Given the description of an element on the screen output the (x, y) to click on. 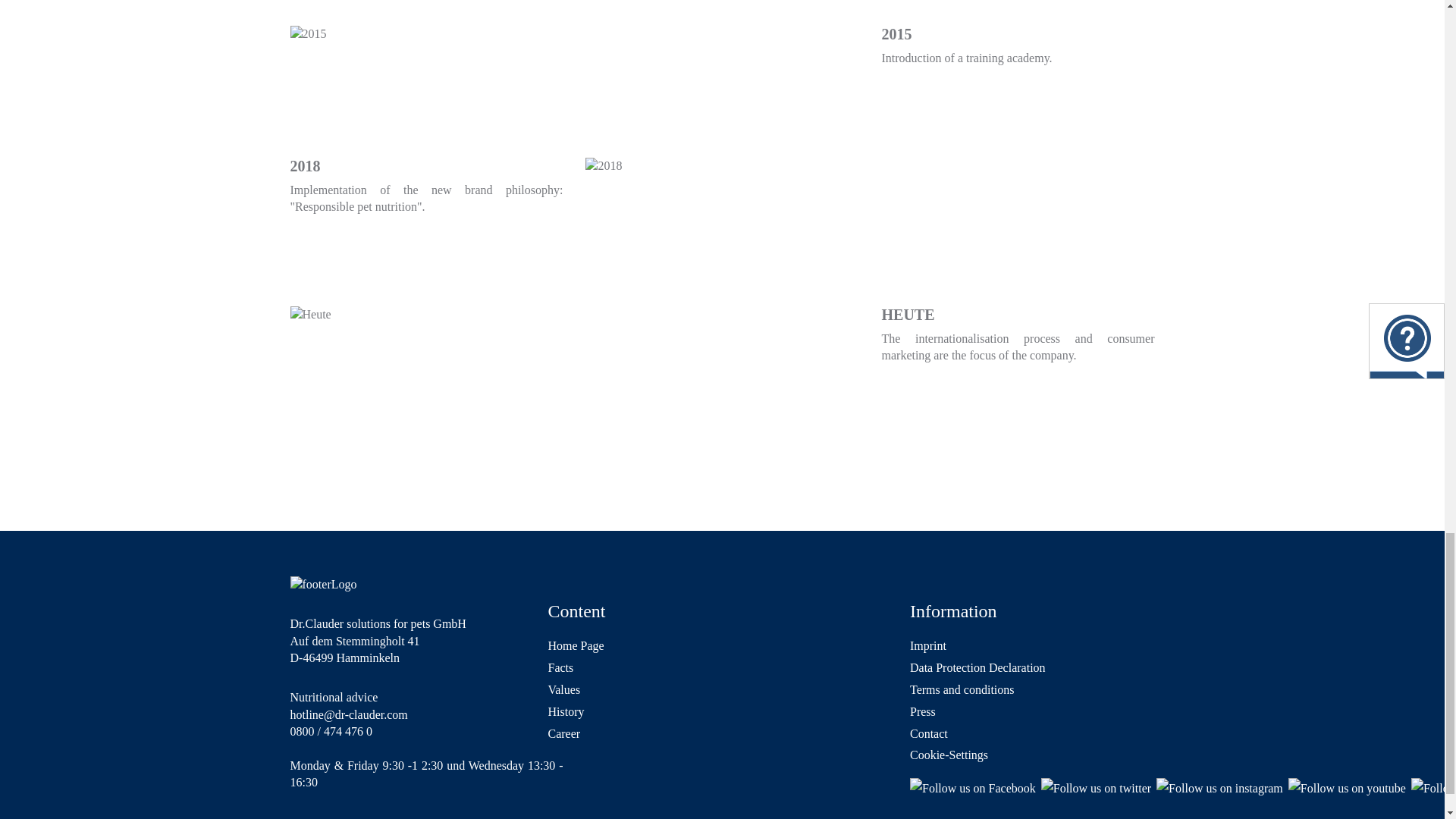
Follow us on twitter (1096, 789)
Follow us on pinterest (1433, 789)
Follow us on Facebook (972, 789)
Follow us on instagram (1219, 789)
Follow us on youtube (1347, 789)
